Given the description of an element on the screen output the (x, y) to click on. 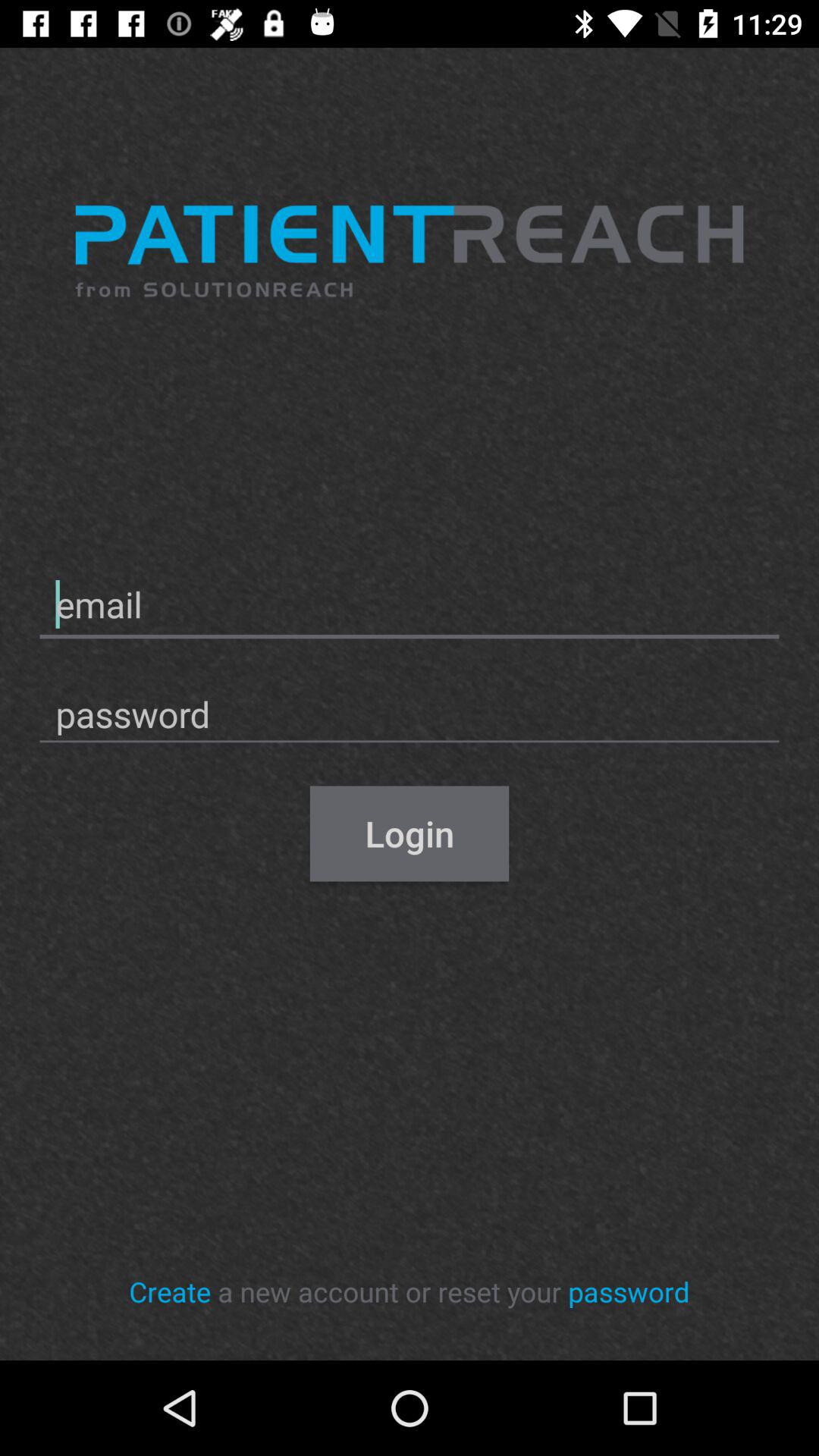
scroll to the login (409, 833)
